Given the description of an element on the screen output the (x, y) to click on. 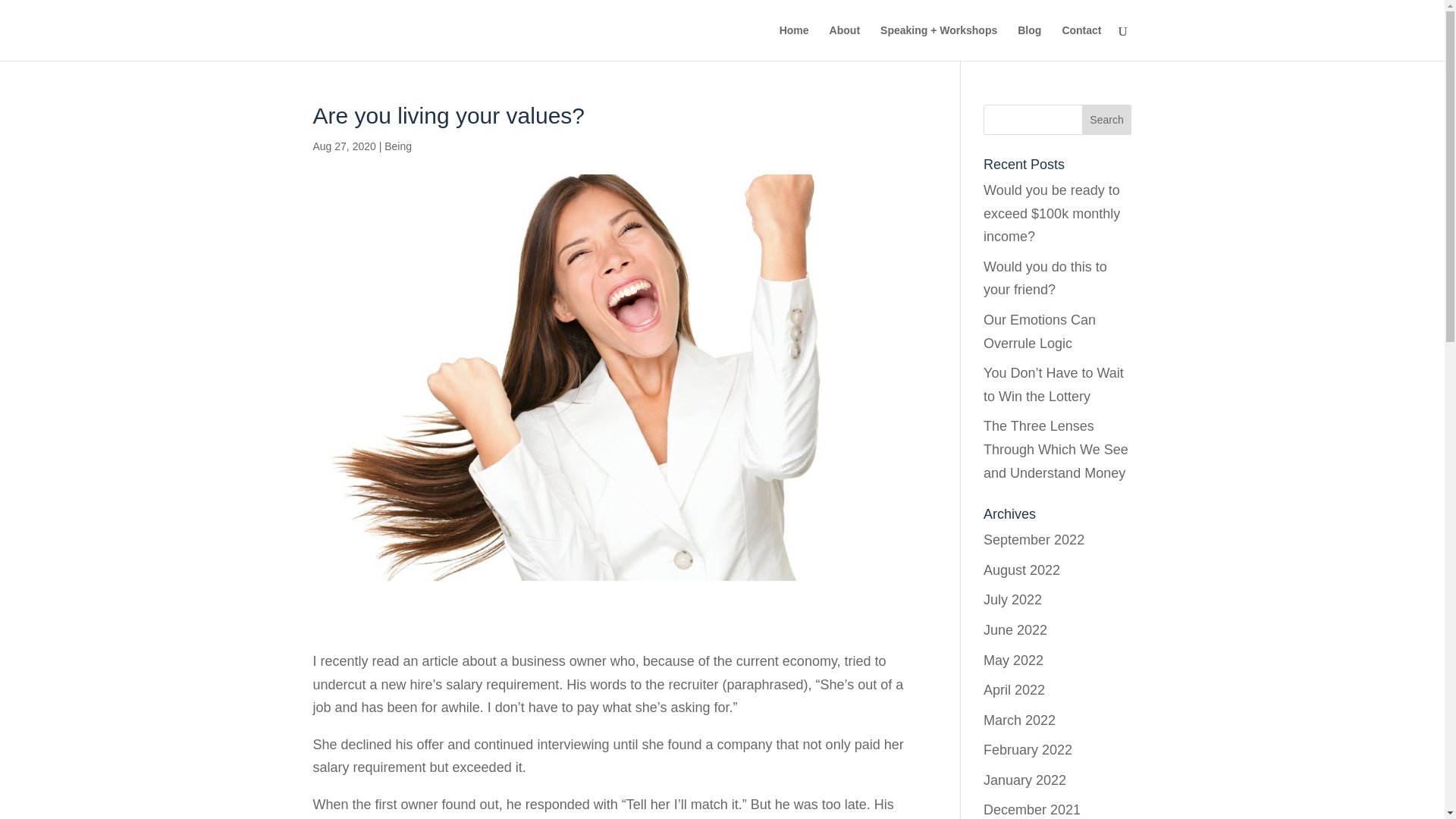
May 2022 (1013, 659)
April 2022 (1014, 689)
August 2022 (1021, 570)
September 2022 (1034, 539)
Contact (1080, 42)
Being (398, 146)
June 2022 (1015, 630)
March 2022 (1019, 720)
December 2021 (1032, 809)
Search (1106, 119)
